Given the description of an element on the screen output the (x, y) to click on. 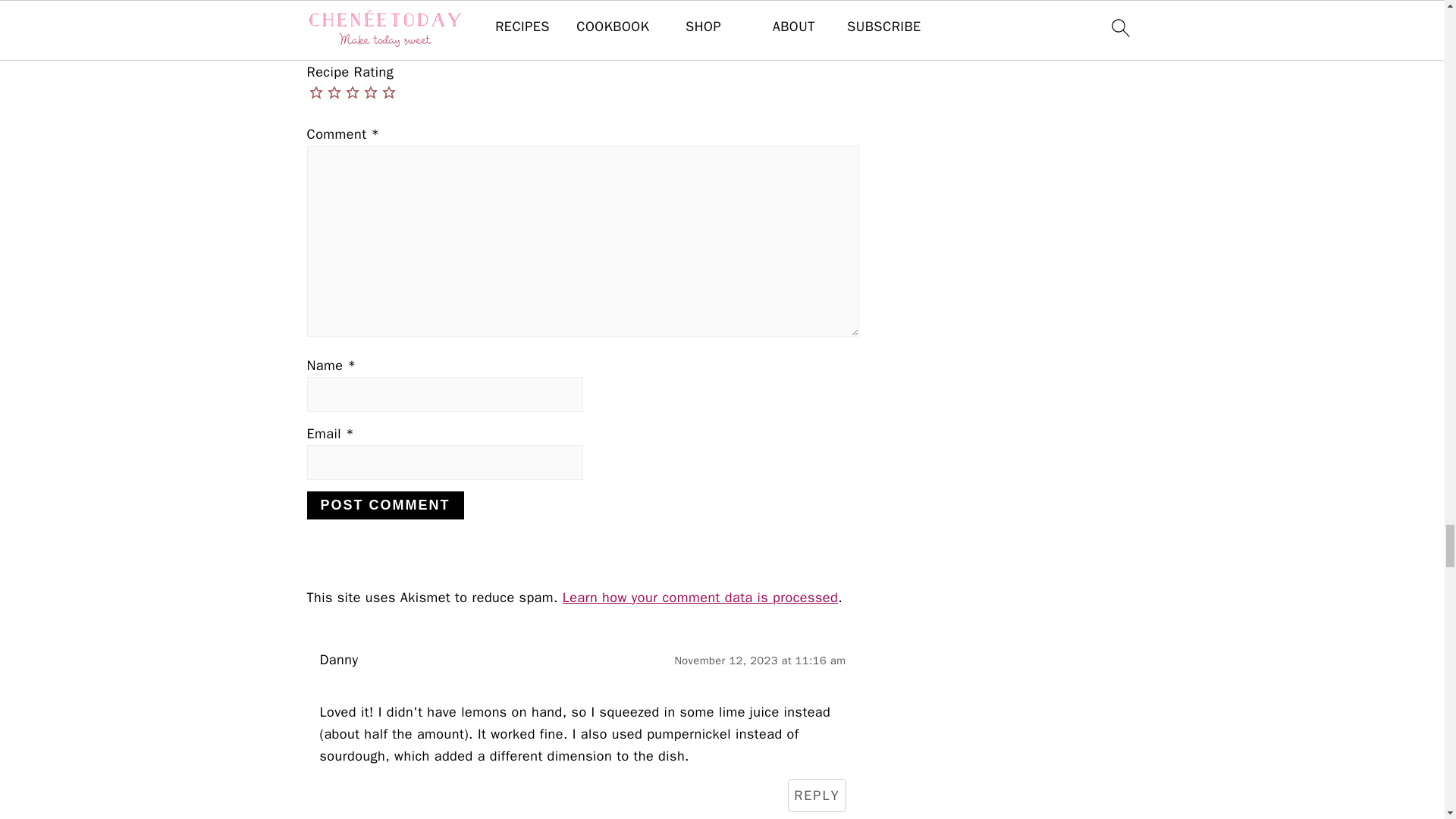
Post Comment (384, 505)
